Given the description of an element on the screen output the (x, y) to click on. 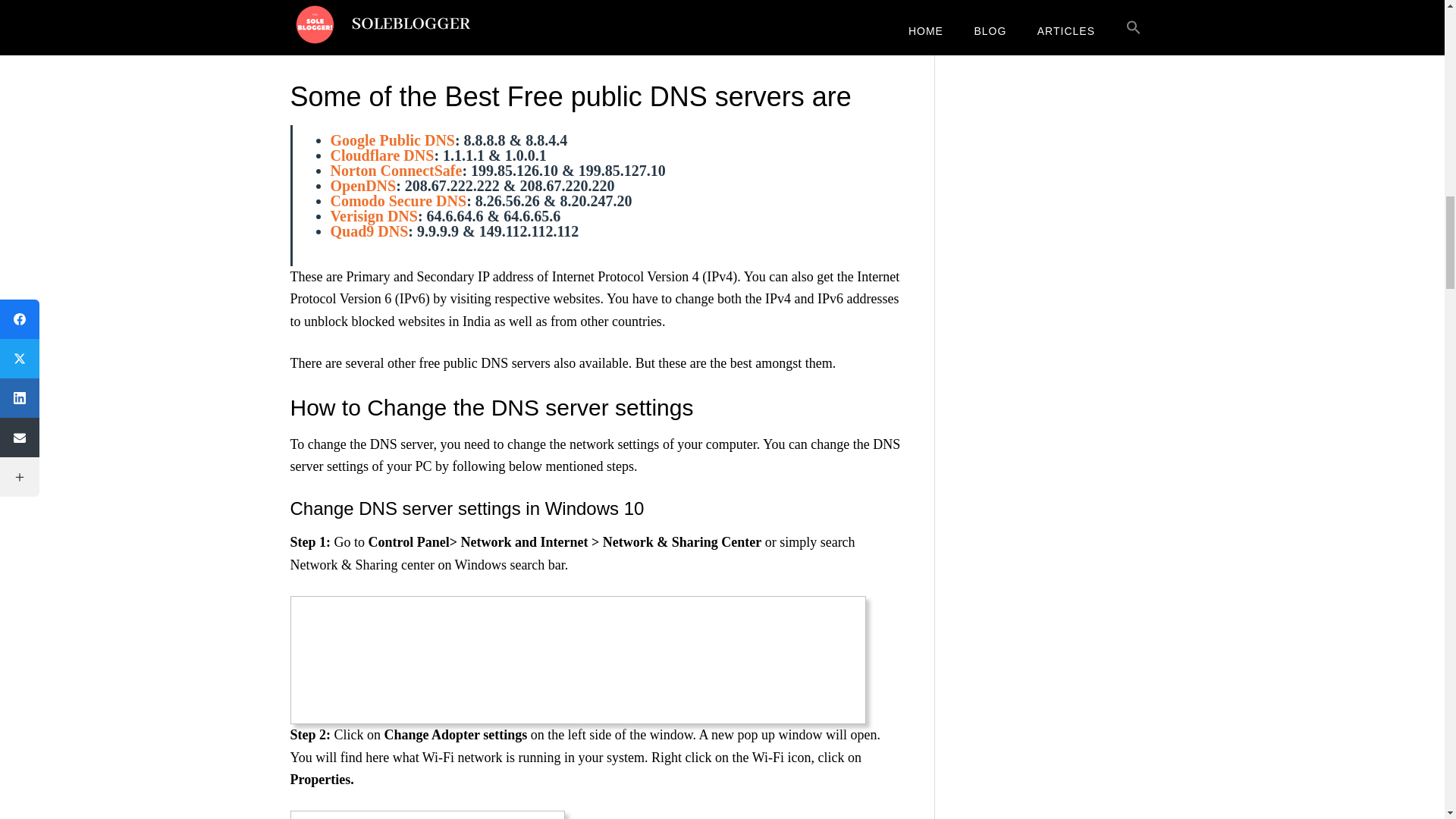
Google Public DNS (392, 139)
OpenDNS (363, 185)
Comodo Secure DNS (398, 200)
Quad9 DNS (369, 230)
Verisign DNS (373, 216)
Cloudflare DNS (381, 155)
Norton ConnectSafe (396, 170)
